Given the description of an element on the screen output the (x, y) to click on. 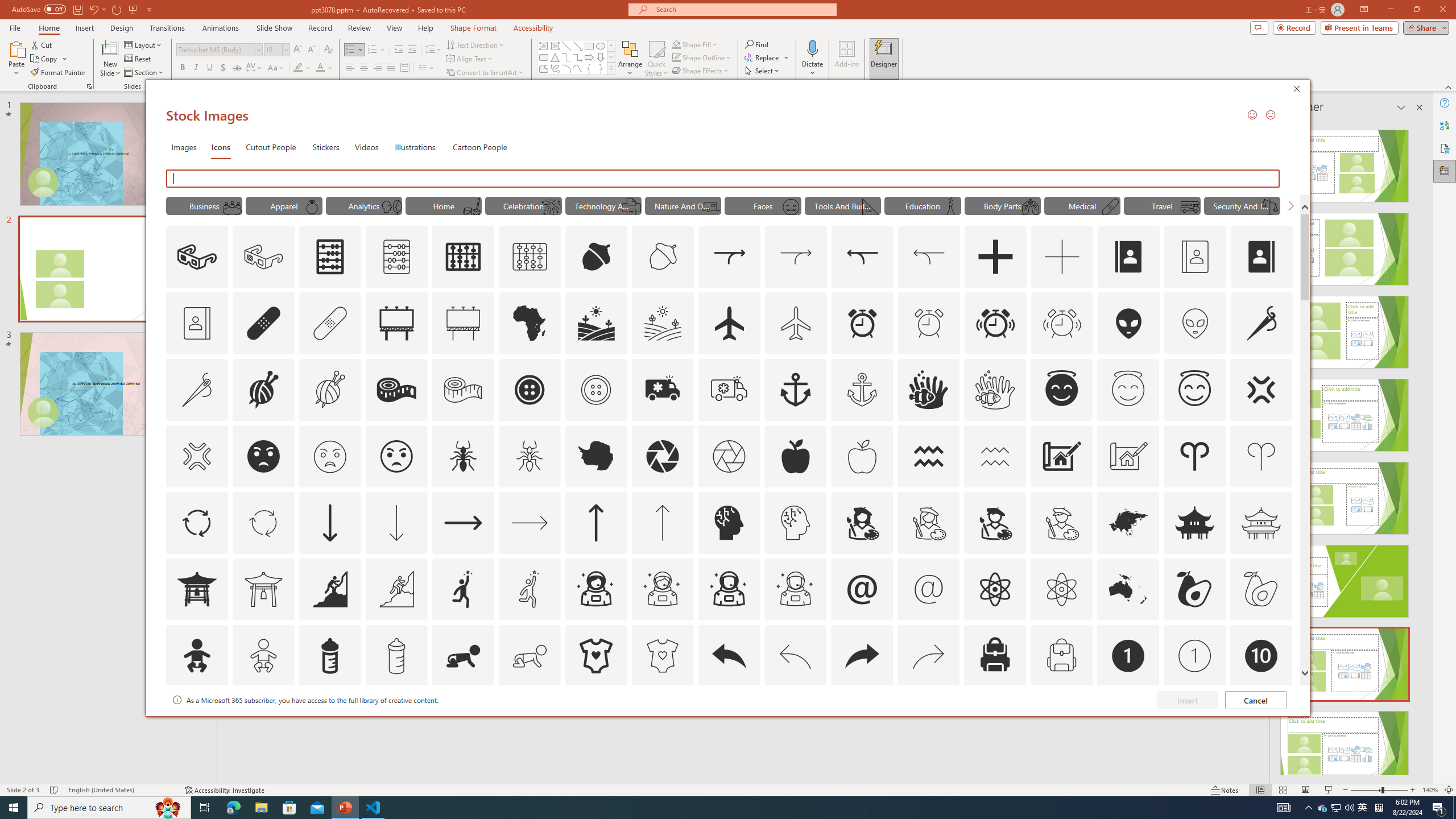
AutomationID: Icons_Aquarius_M (995, 455)
Clear Formatting (327, 49)
AutomationID: Icons_Avocado_M (1260, 588)
Convert to SmartArt (485, 72)
